Given the description of an element on the screen output the (x, y) to click on. 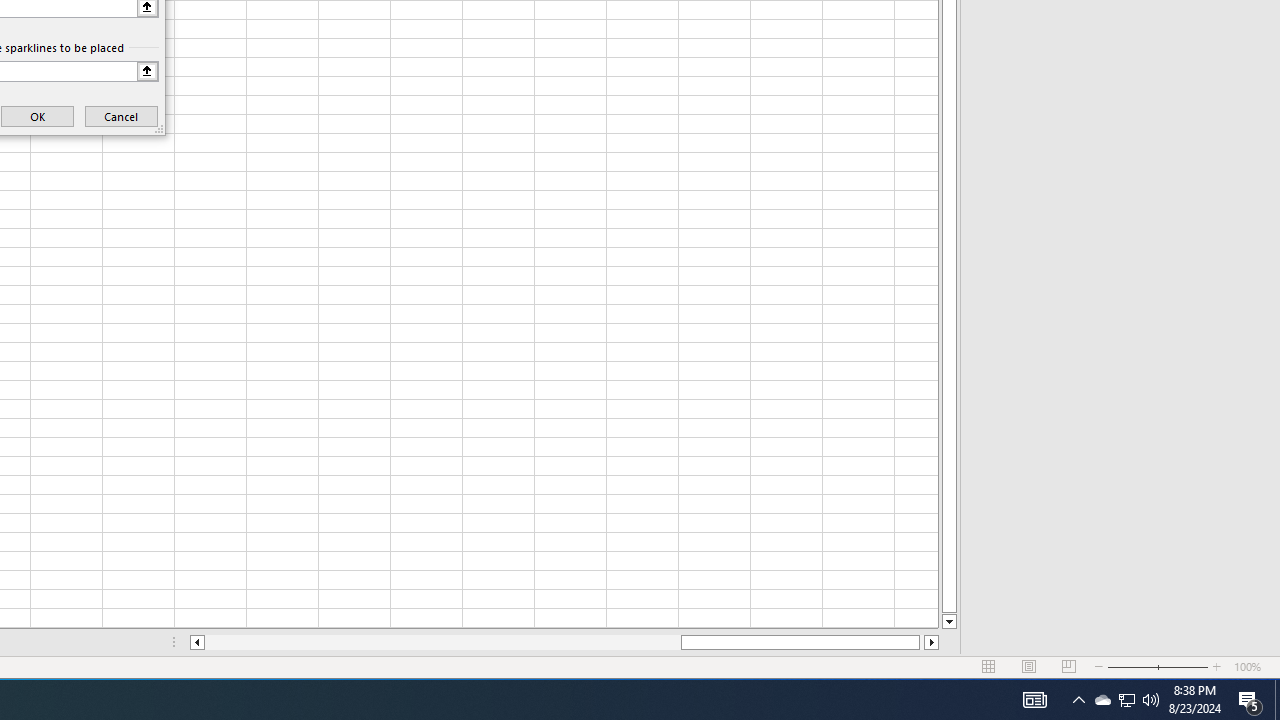
Page right (922, 642)
Page left (442, 642)
